Given the description of an element on the screen output the (x, y) to click on. 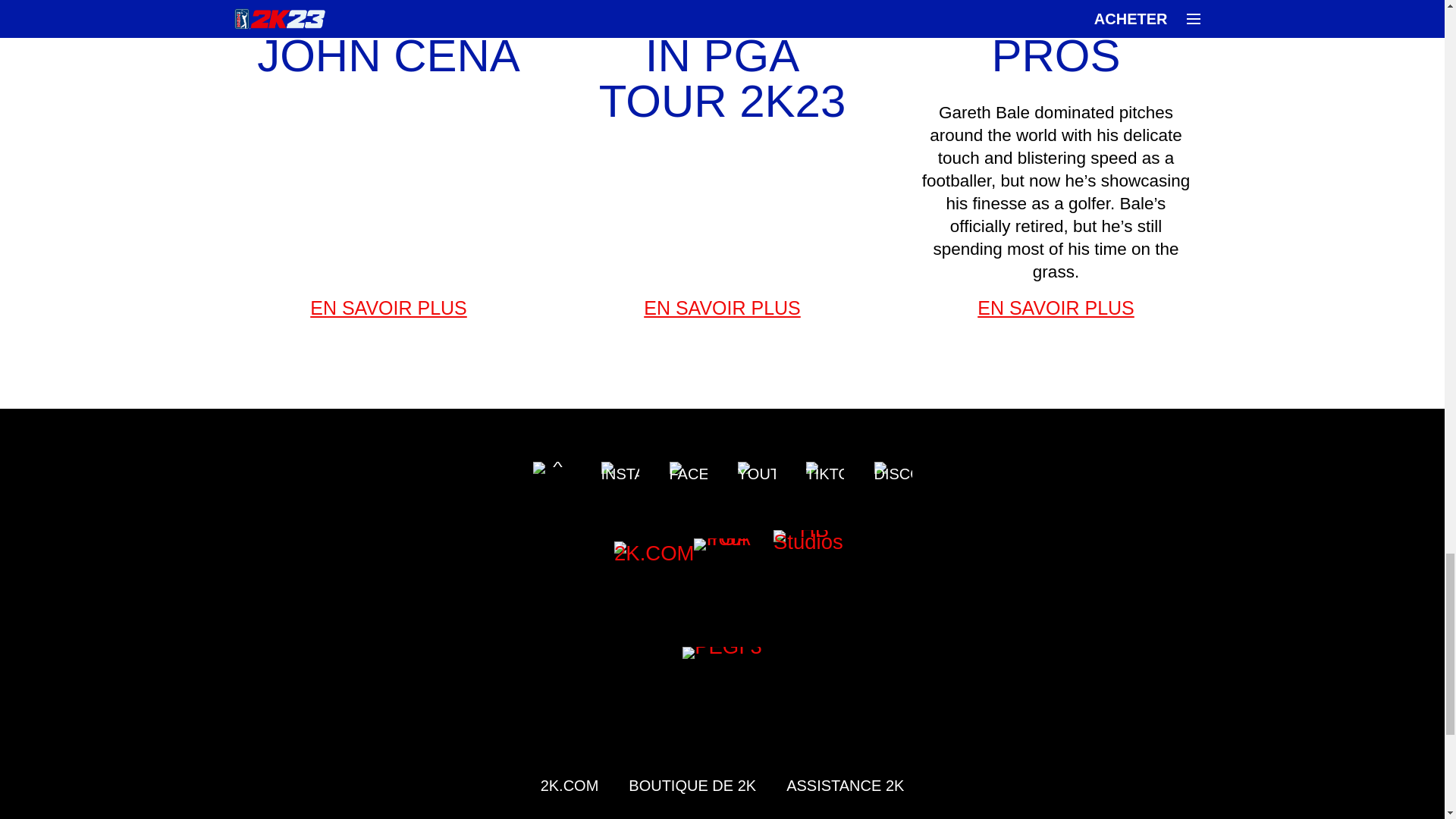
EN SAVOIR PLUS (1055, 307)
EN SAVOIR PLUS (388, 307)
EN SAVOIR PLUS (722, 307)
